Given the description of an element on the screen output the (x, y) to click on. 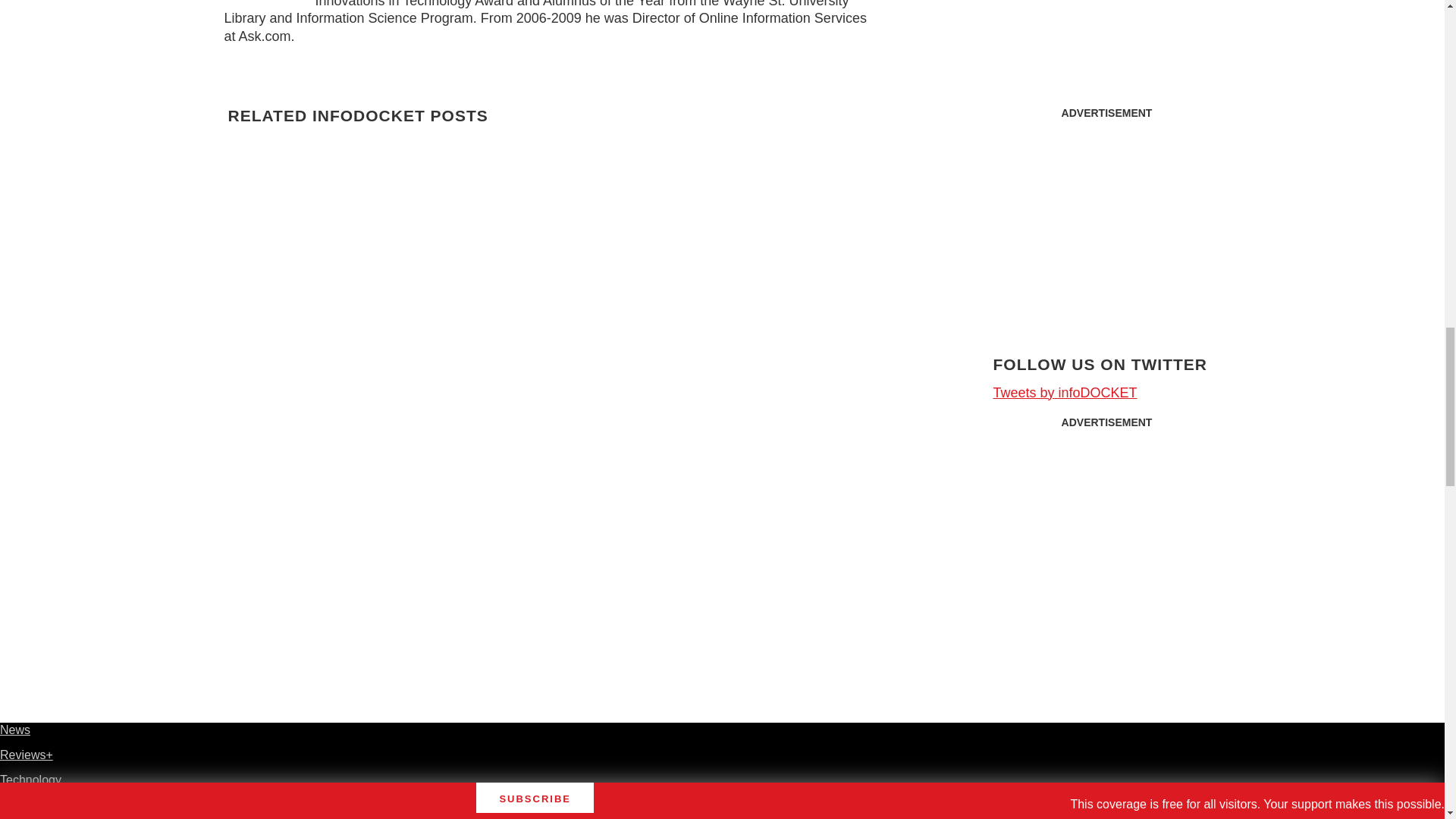
3rd party ad content (1106, 531)
3rd party ad content (1106, 221)
